Given the description of an element on the screen output the (x, y) to click on. 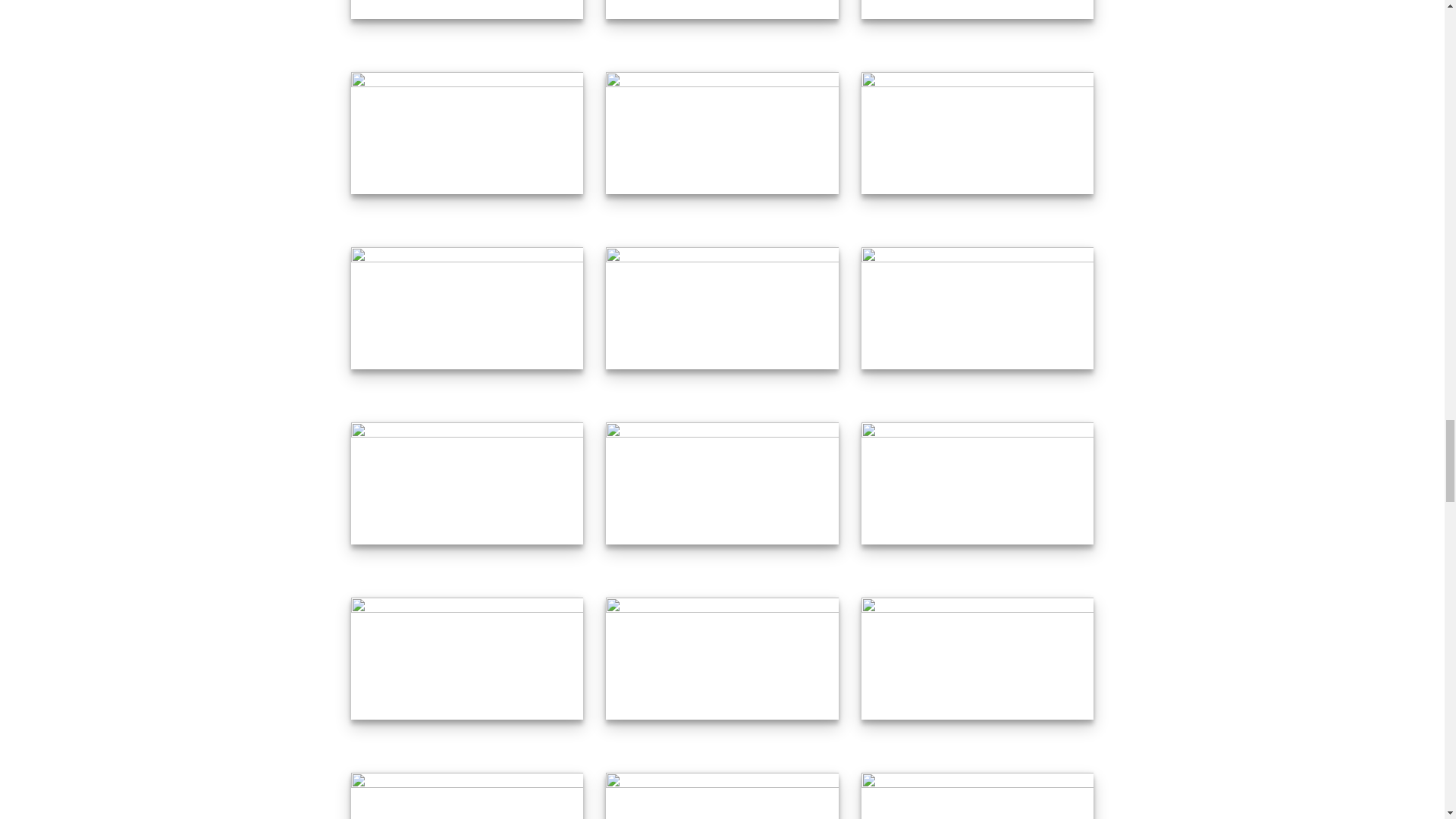
SPEAKERSBefus (721, 9)
SPEAKERS Brandao (466, 9)
